Given the description of an element on the screen output the (x, y) to click on. 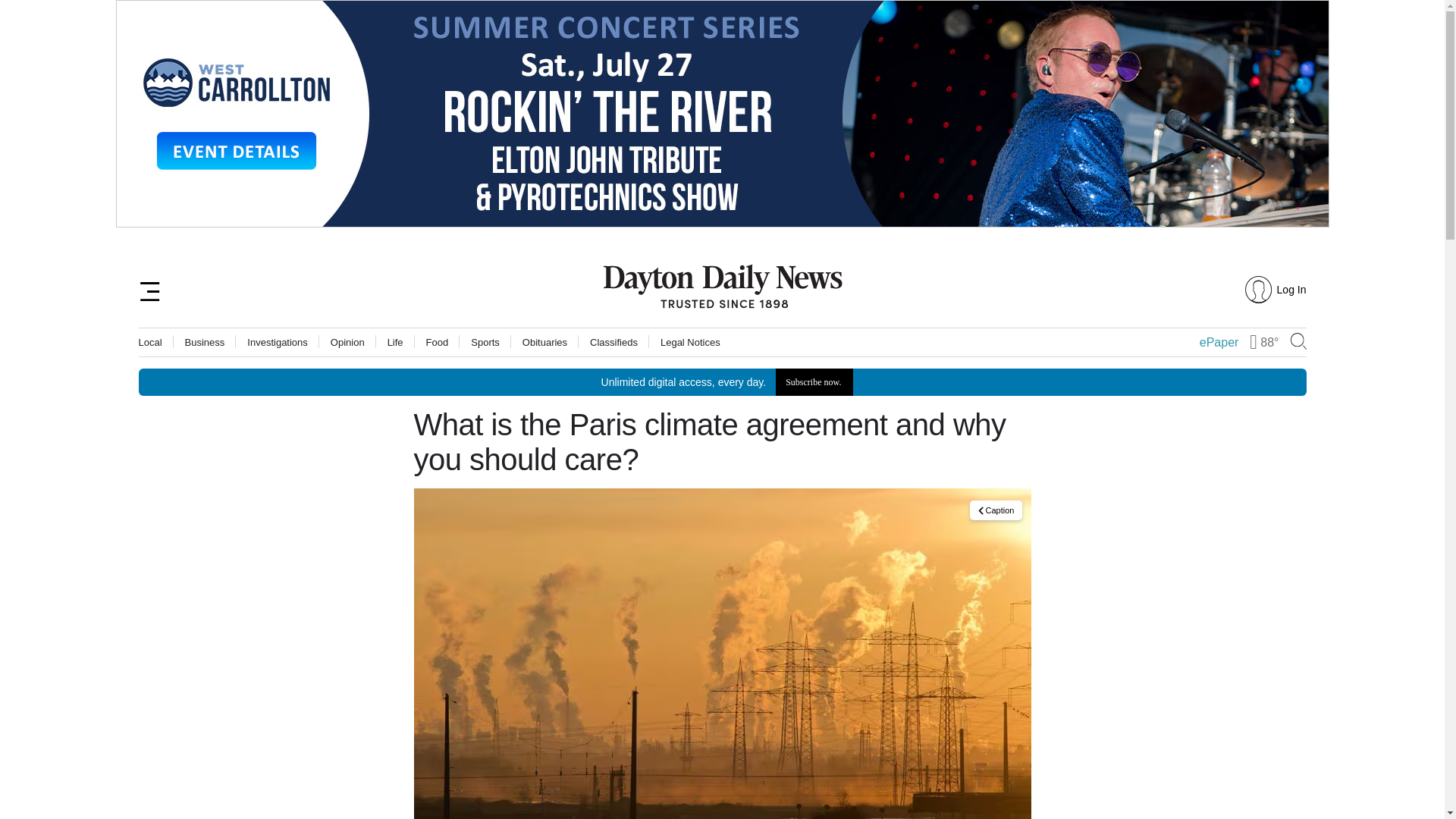
Obituaries (544, 342)
Sports (484, 342)
Classifieds (613, 342)
Local (149, 342)
Life (395, 342)
Investigations (277, 342)
ePaper (1219, 342)
Legal Notices (690, 342)
Business (204, 342)
Opinion (347, 342)
Food (722, 381)
